Given the description of an element on the screen output the (x, y) to click on. 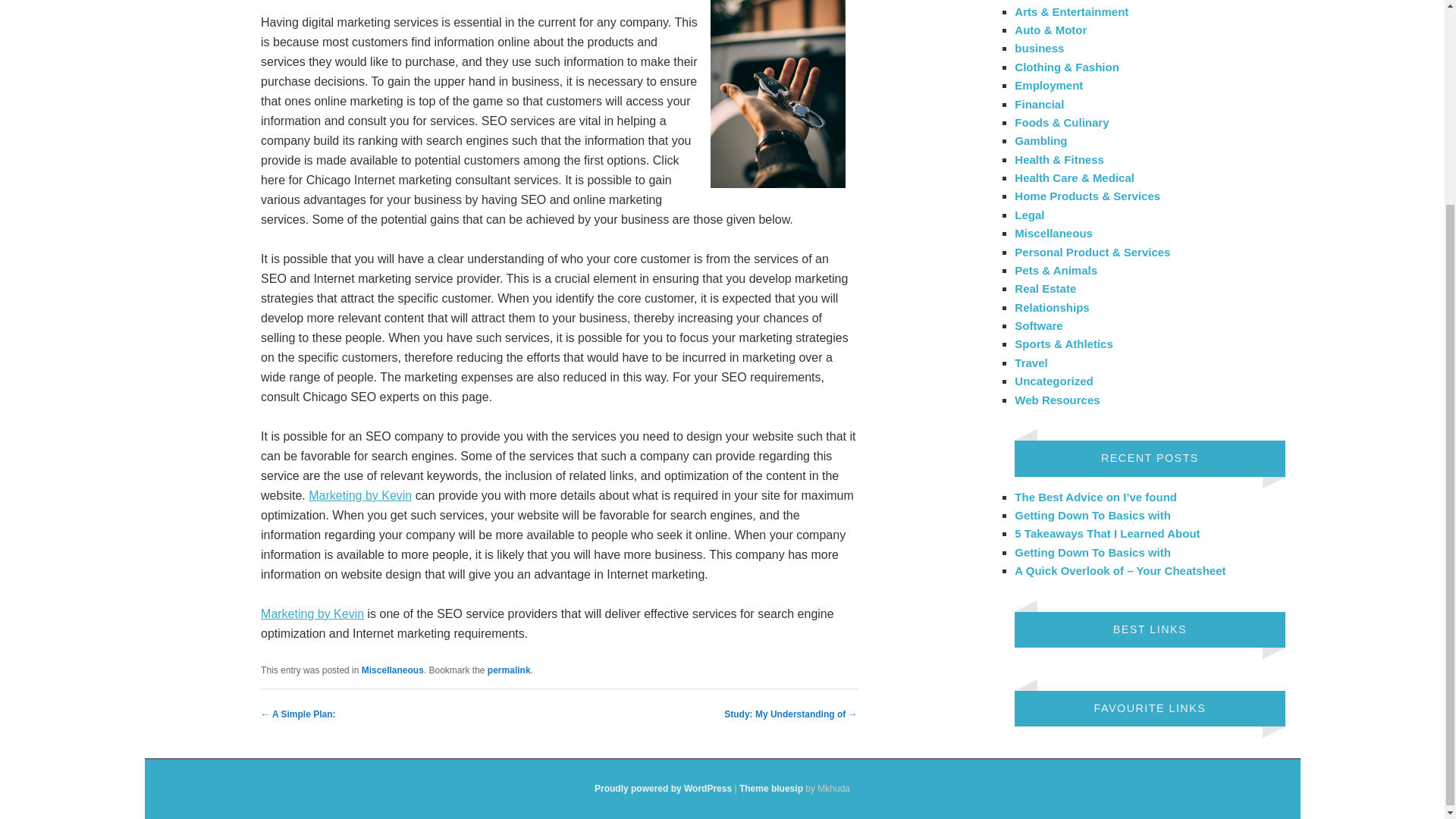
Travel (1030, 362)
Software (1038, 325)
Uncategorized (1053, 380)
Legal (1028, 214)
Miscellaneous (392, 670)
Miscellaneous (1053, 232)
A Semantic Personal Publishing Platform (663, 787)
Marketing by Kevin (312, 613)
Mkhuda (771, 787)
Real Estate (1044, 287)
